Given the description of an element on the screen output the (x, y) to click on. 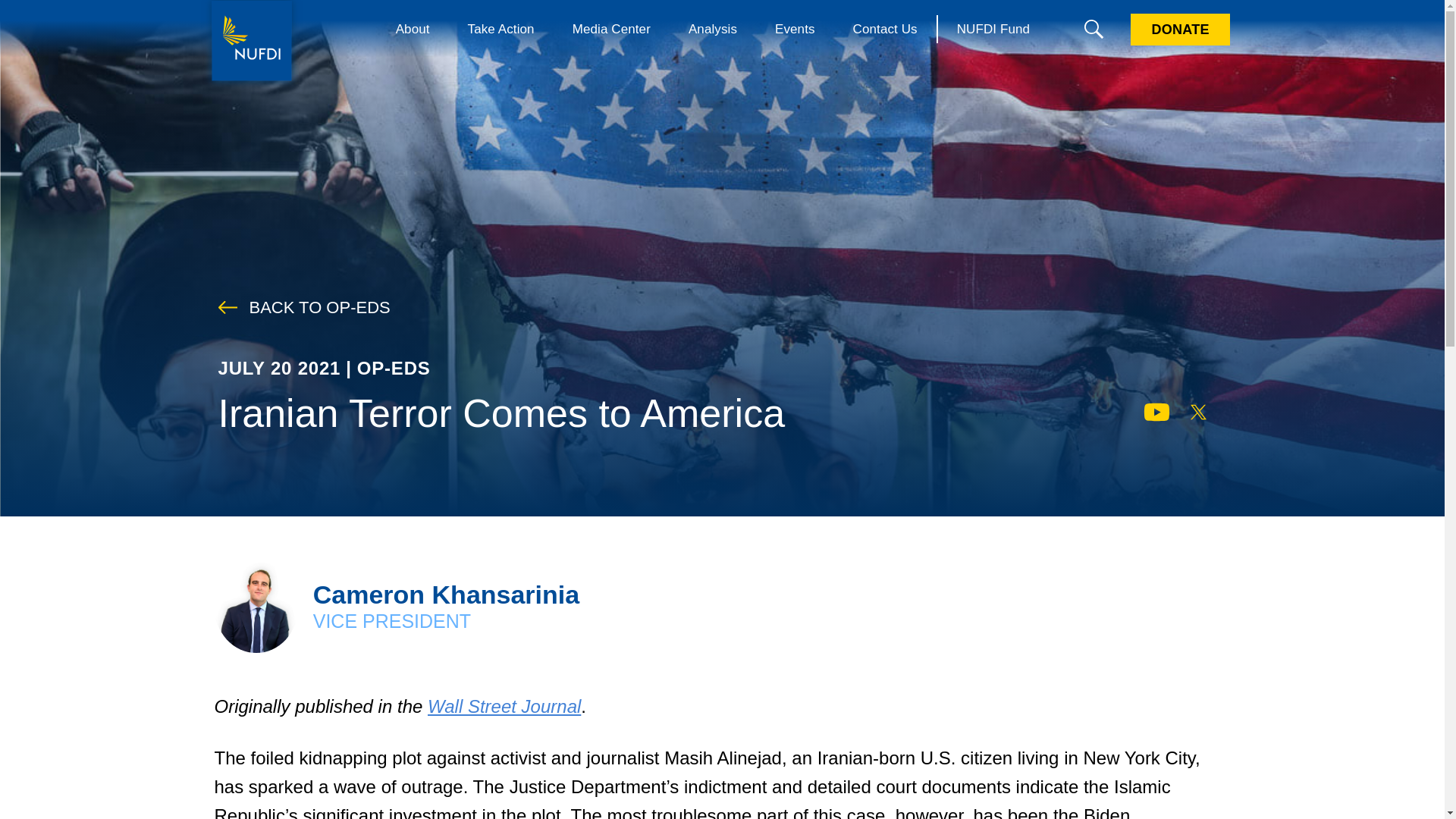
NUFDI Fund (992, 29)
About (412, 29)
DONATE (1180, 29)
Analysis (712, 29)
Take Action (500, 29)
Events (794, 29)
Media Center (611, 29)
Contact Us (885, 29)
